Given the description of an element on the screen output the (x, y) to click on. 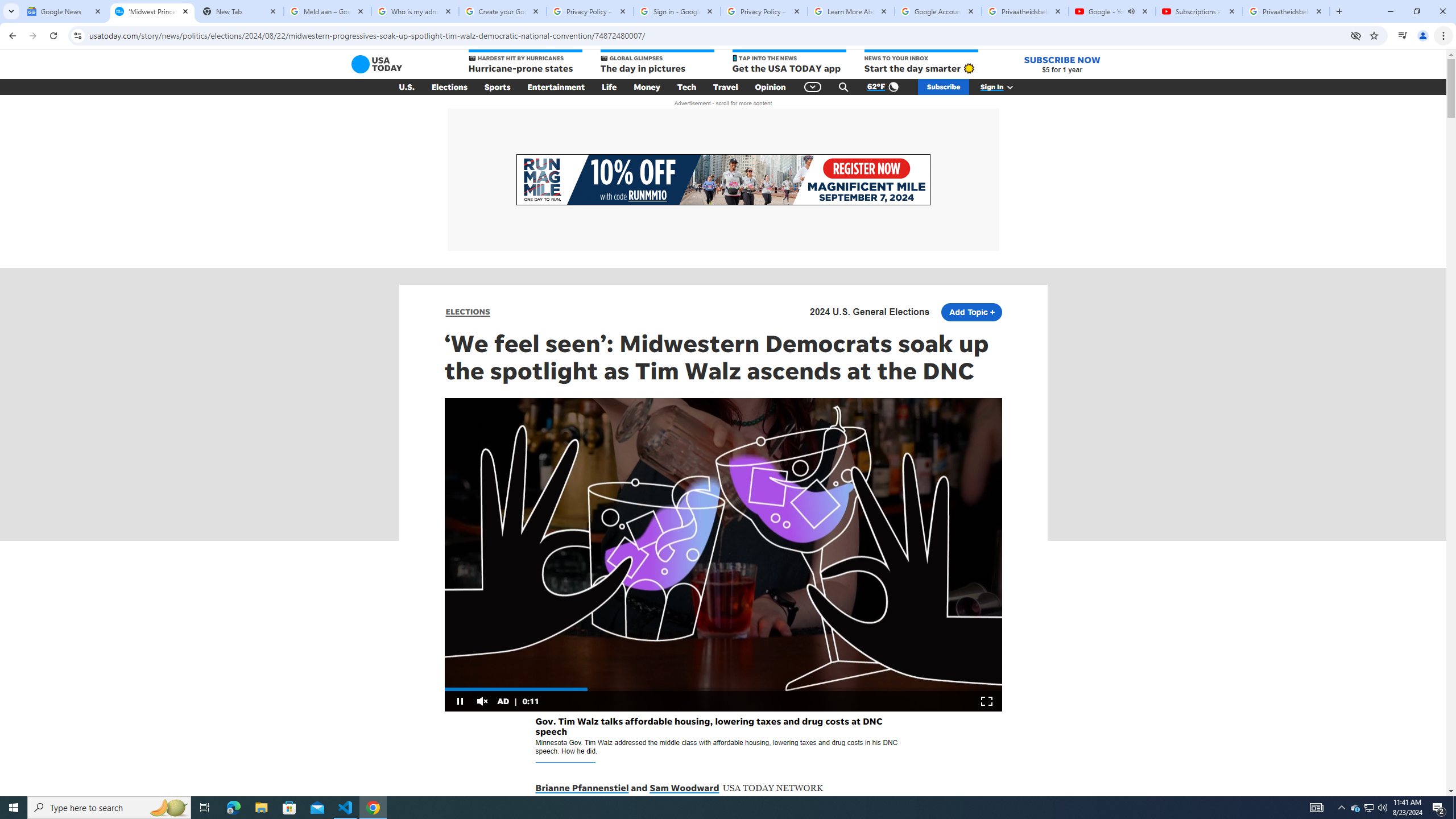
SUBSCRIBE NOW $5 for 1 year (1062, 64)
Elections (449, 87)
Third-party cookies blocked (1355, 35)
Google - YouTube - Audio playing (1111, 11)
Who is my administrator? - Google Account Help (415, 11)
Opinion (770, 87)
Subscriptions - YouTube (1198, 11)
Control your music, videos, and more (1402, 35)
